Given the description of an element on the screen output the (x, y) to click on. 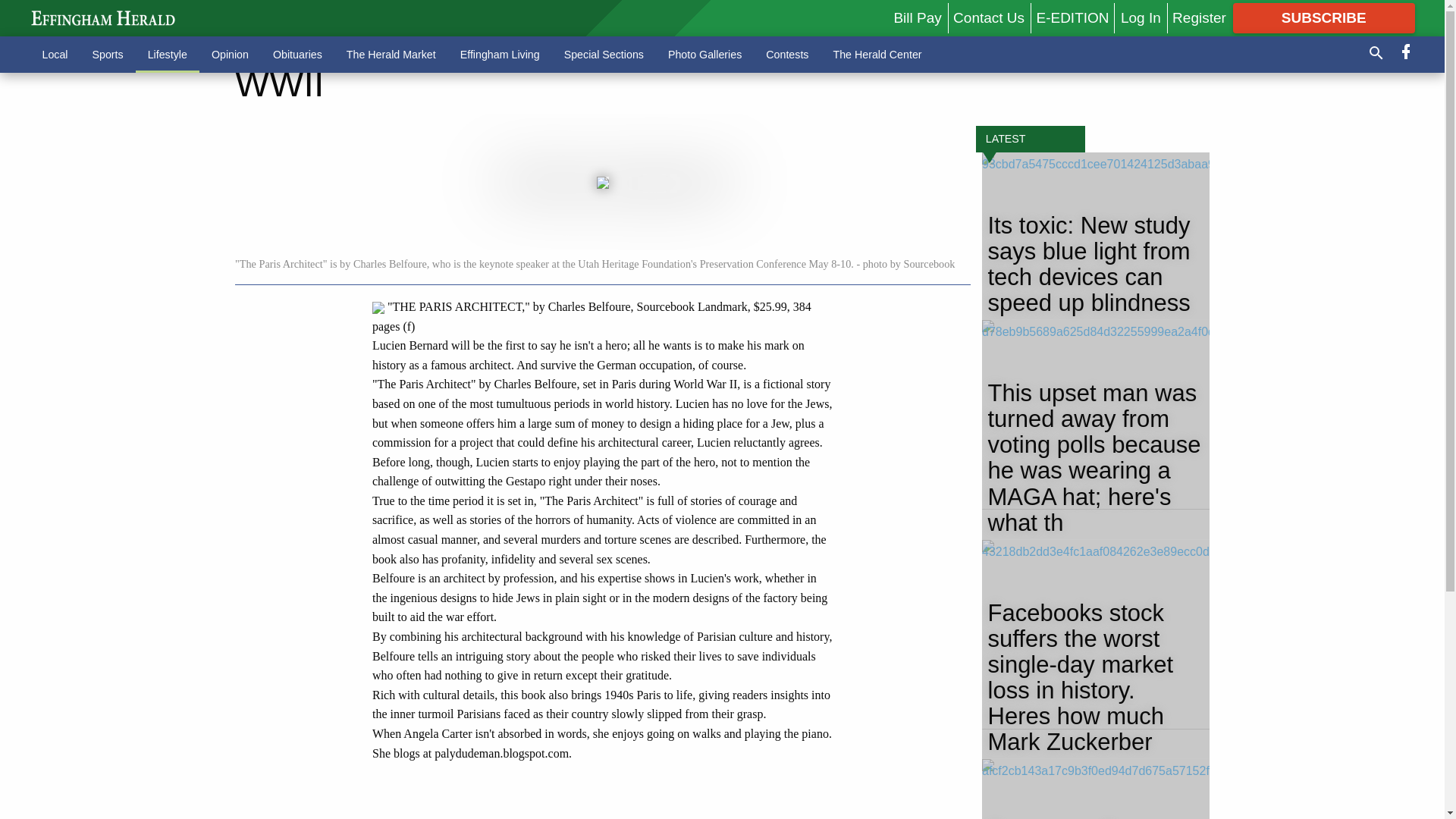
Bill Pay (916, 17)
Local (55, 54)
SUBSCRIBE (1324, 18)
Obituaries (297, 54)
Opinion (229, 54)
Register (1198, 17)
Lifestyle (167, 54)
Sports (107, 54)
Log In (1140, 17)
Contact Us (989, 17)
